Given the description of an element on the screen output the (x, y) to click on. 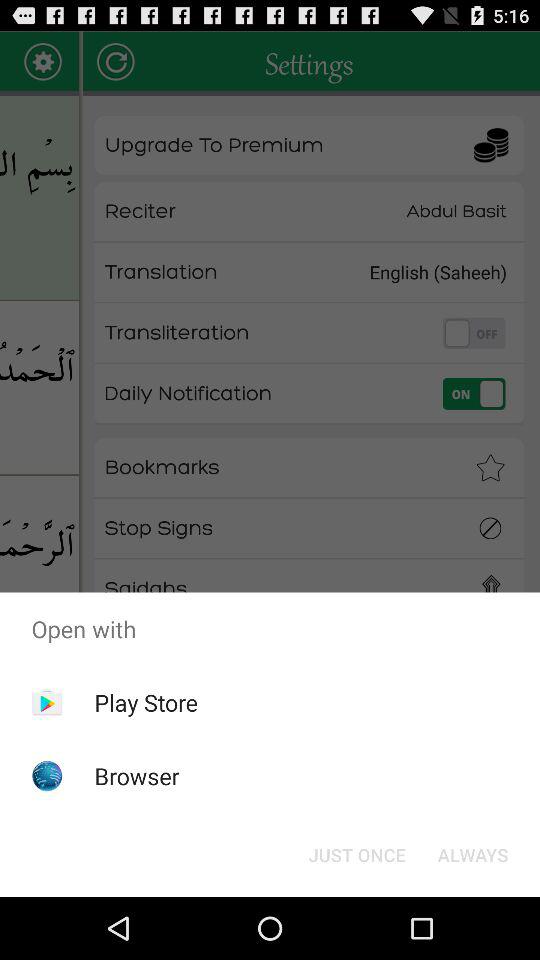
launch the item next to the just once item (472, 854)
